Given the description of an element on the screen output the (x, y) to click on. 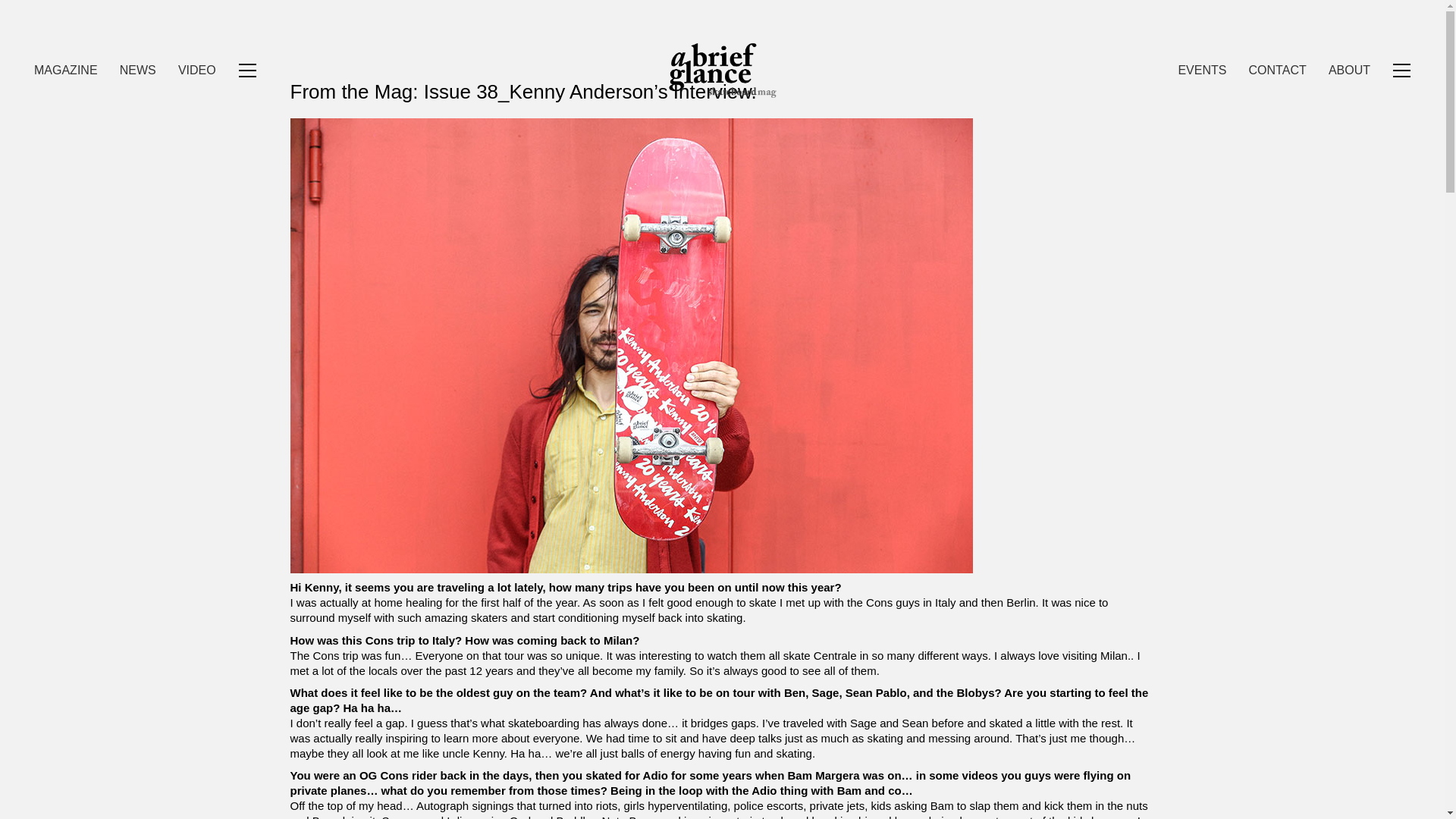
NEWS (137, 69)
VIDEO (196, 69)
EVENTS (1201, 69)
CONTACT (1277, 69)
MAGAZINE (65, 69)
ABOUT (1348, 69)
